Given the description of an element on the screen output the (x, y) to click on. 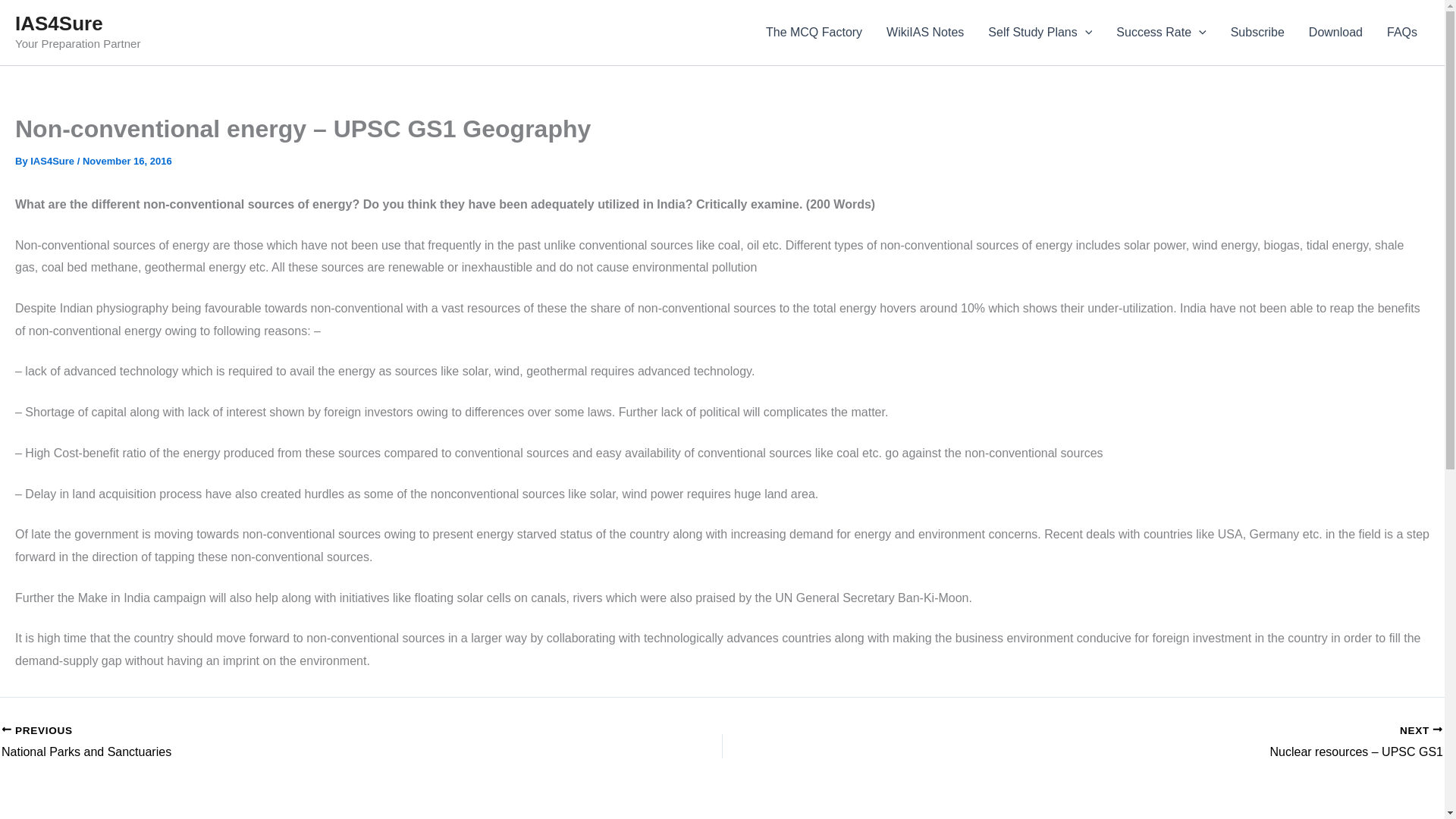
Download (1335, 32)
IAS4Sure (53, 161)
National Parks and Sanctuaries (290, 742)
WikiIAS Notes (925, 32)
Subscribe (1257, 32)
Self Study Plans (1039, 32)
FAQs (1401, 32)
Nuclear resources - UPSC GS1 (1153, 742)
IAS4Sure (290, 742)
